Given the description of an element on the screen output the (x, y) to click on. 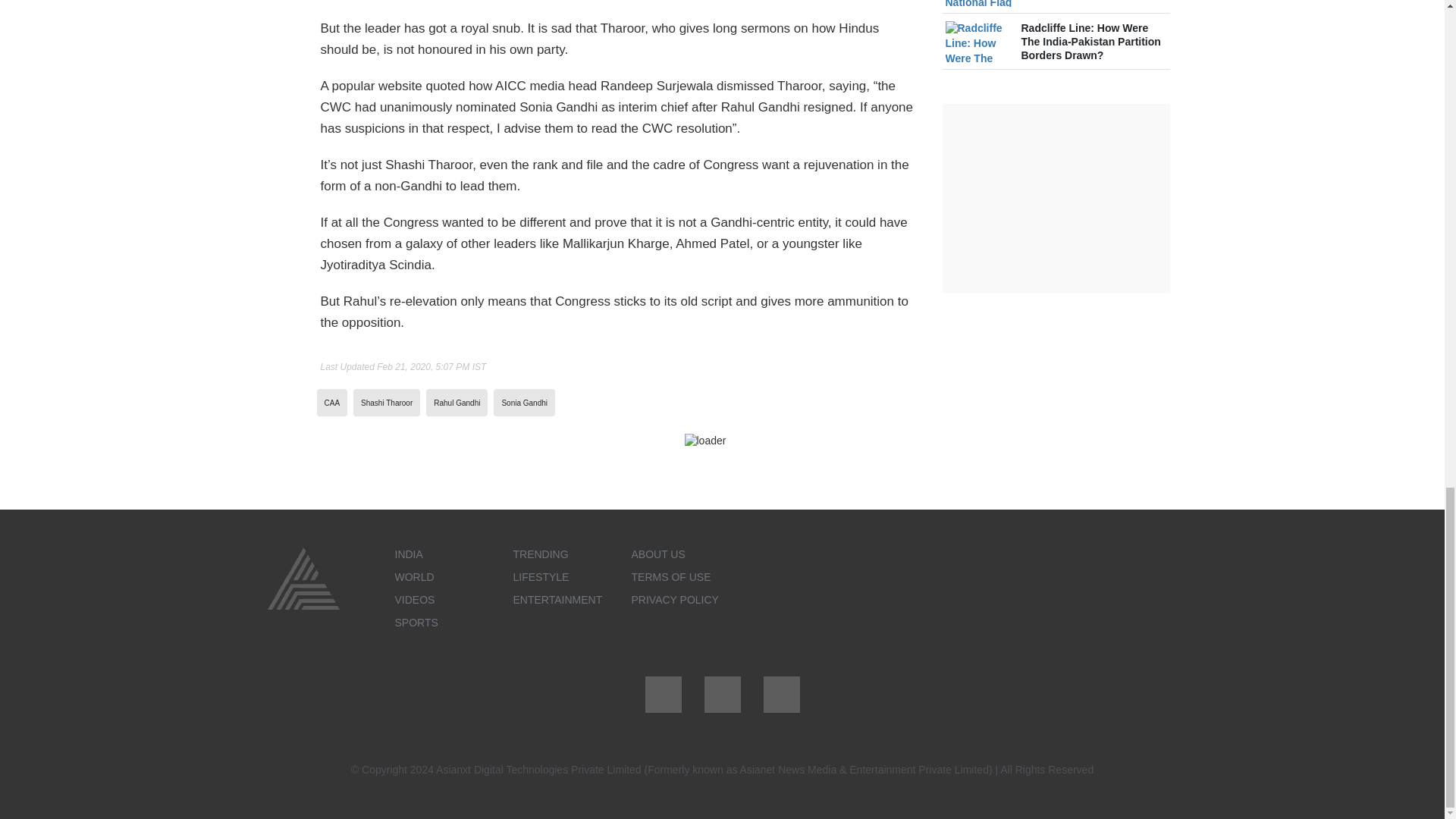
Rahul Gandhi (456, 402)
CAA (332, 402)
Sonia Gandhi (523, 402)
Shashi Tharoor (386, 402)
